Given the description of an element on the screen output the (x, y) to click on. 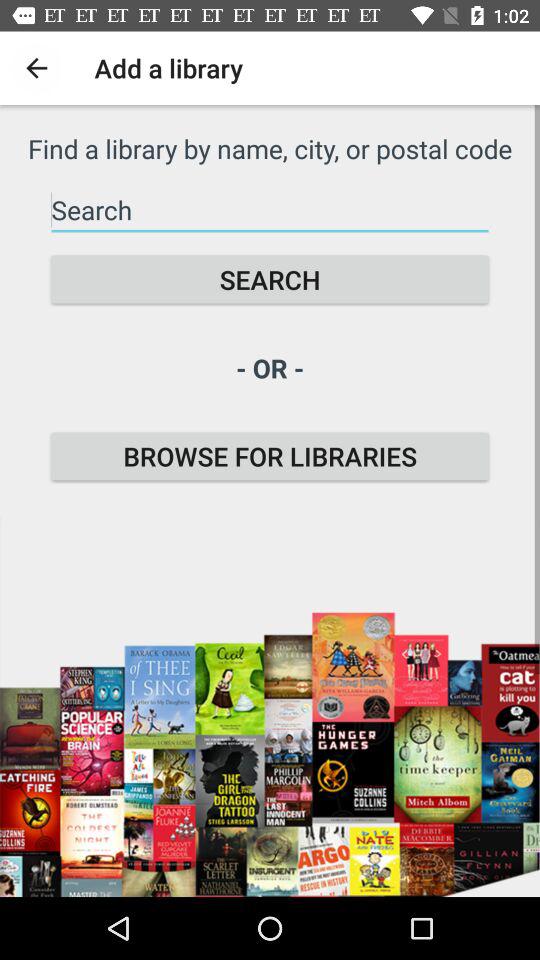
click item above the find a library icon (36, 68)
